Given the description of an element on the screen output the (x, y) to click on. 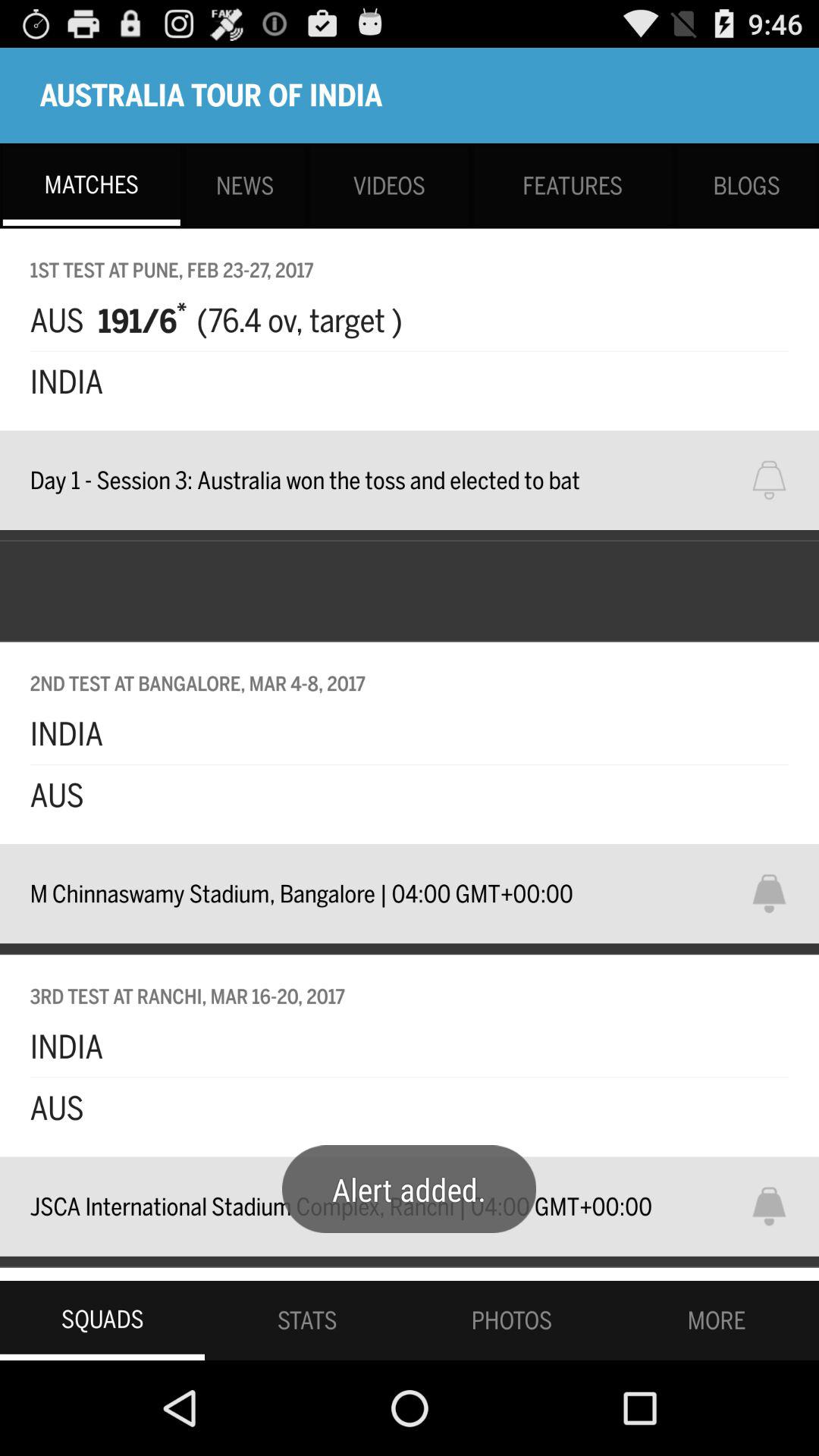
click for notification (778, 1206)
